Given the description of an element on the screen output the (x, y) to click on. 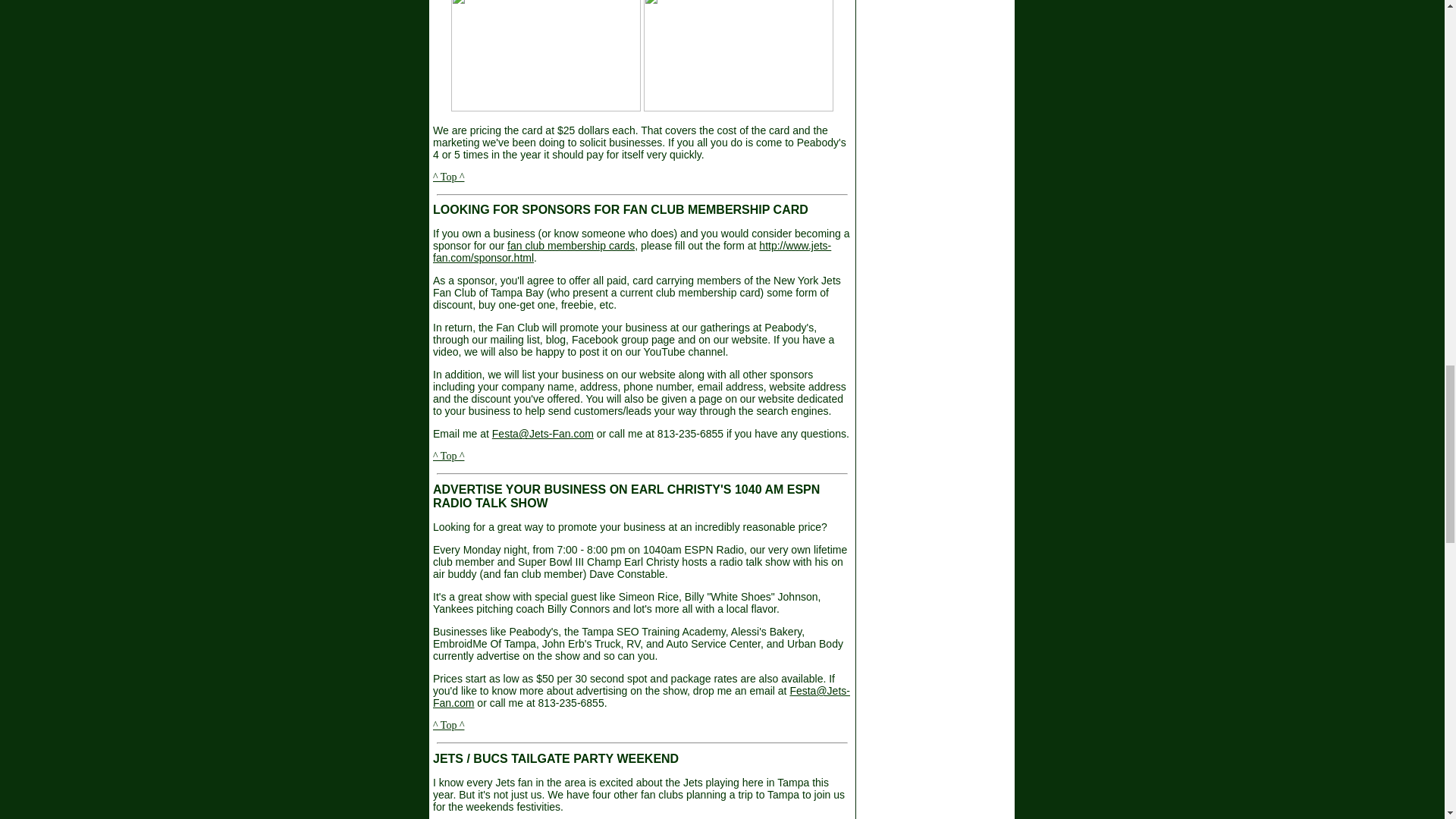
fan club membership cards (570, 245)
